Given the description of an element on the screen output the (x, y) to click on. 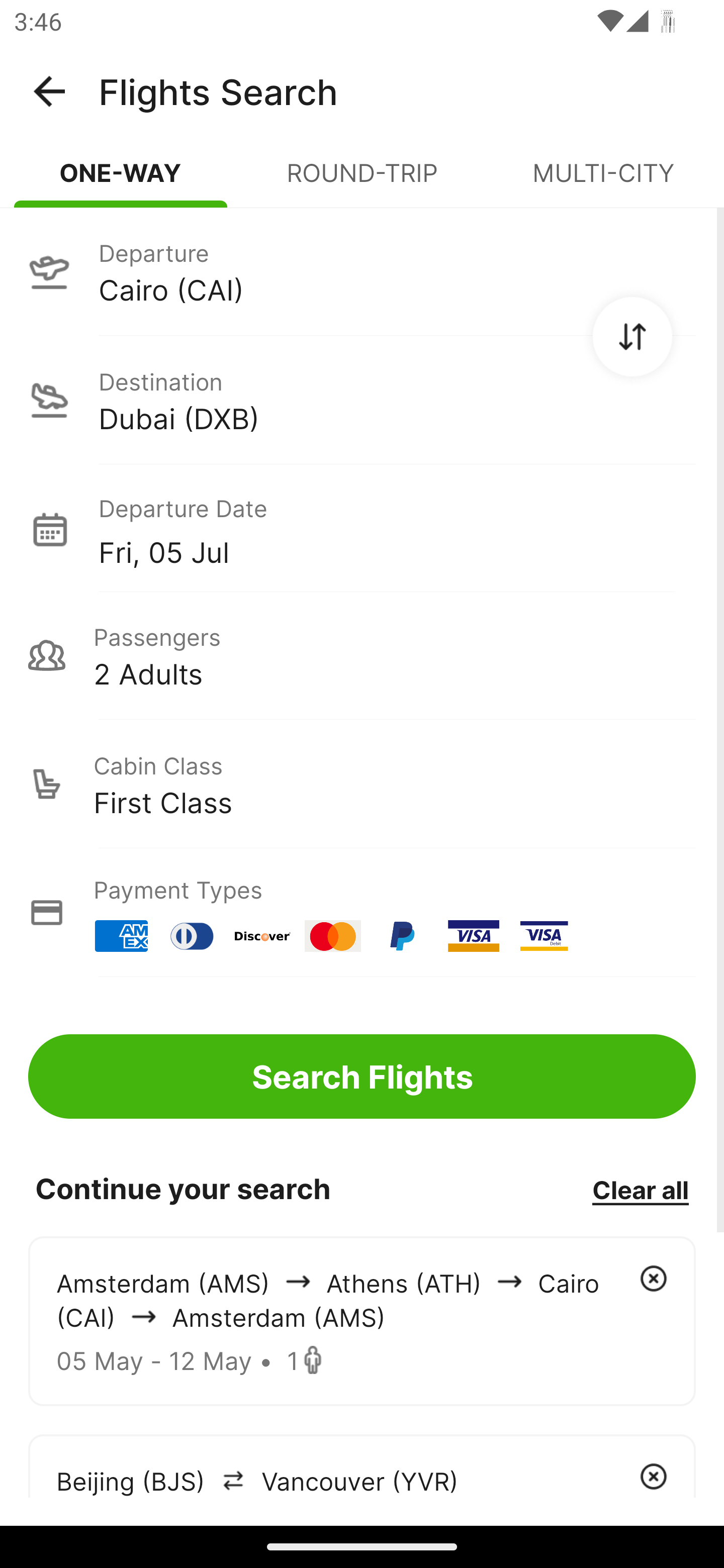
ONE-WAY (120, 180)
ROUND-TRIP (361, 180)
MULTI-CITY (603, 180)
Departure Cairo (CAI) (362, 270)
Destination Dubai (DXB) (362, 400)
Departure Date Fri, 05 Jul (396, 528)
Passengers 2 Adults (362, 655)
Cabin Class First Class (362, 783)
Payment Types (362, 912)
Search Flights (361, 1075)
Clear all (640, 1189)
Beijing (BJS)  arrowIcon  Vancouver (YVR) (361, 1465)
